Given the description of an element on the screen output the (x, y) to click on. 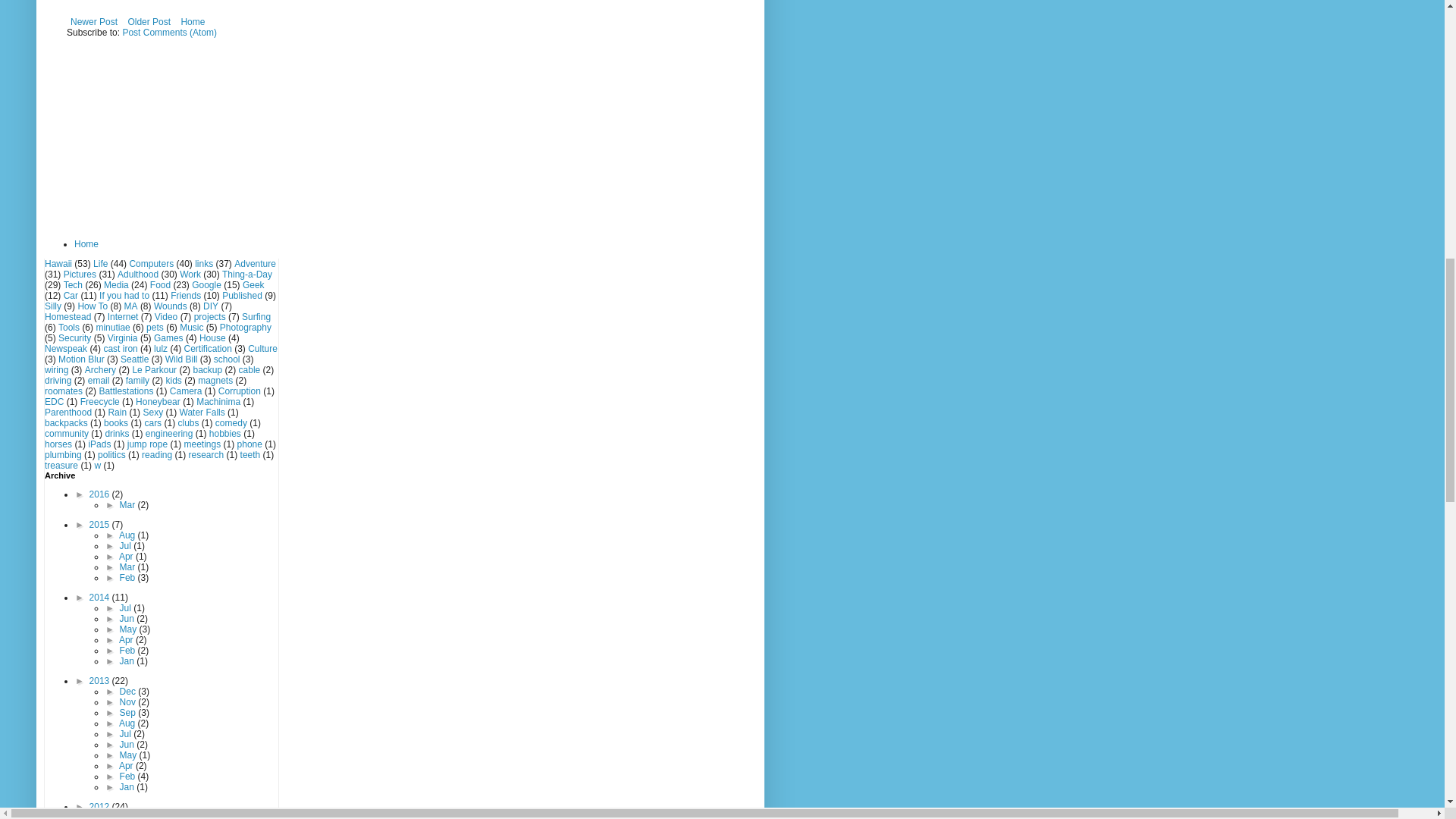
Home (192, 22)
Advertisement (180, 7)
How To (92, 306)
Work (189, 274)
Adventure (255, 263)
Silly (53, 306)
Car (71, 295)
Pictures (80, 274)
Food (159, 285)
Google (206, 285)
Older Post (148, 22)
Friends (185, 295)
Published (242, 295)
Tech (73, 285)
Newer Post (93, 22)
